Given the description of an element on the screen output the (x, y) to click on. 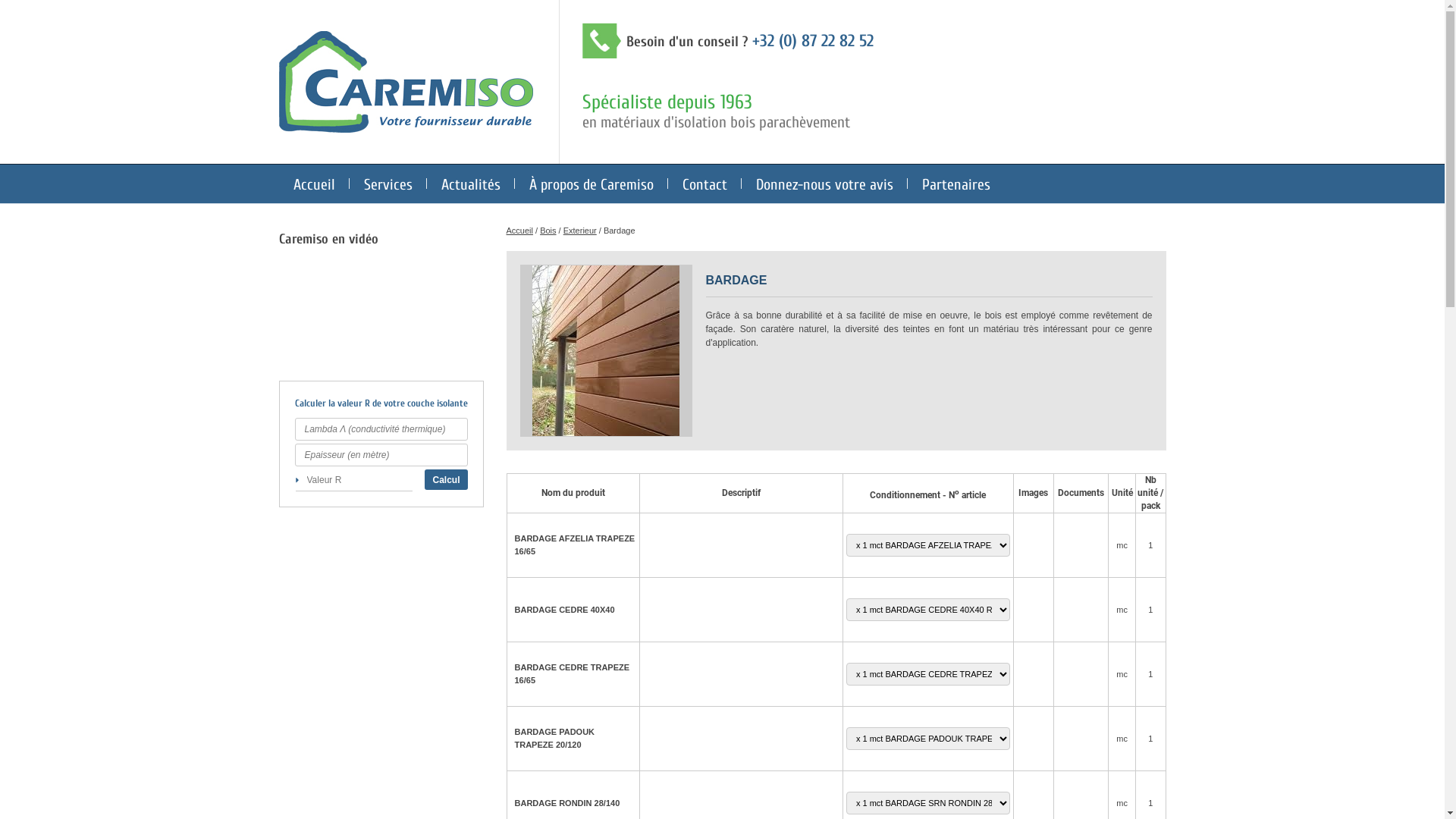
Contact Element type: text (703, 183)
Bardage Element type: hover (606, 350)
Partenaires Element type: text (954, 183)
Caremiso Element type: hover (406, 81)
Calcul Element type: hover (445, 479)
Exterieur Element type: text (579, 230)
Calcul Element type: text (445, 479)
Services Element type: text (386, 183)
Accueil Element type: text (519, 230)
Donnez-nous votre avis Element type: text (823, 183)
Accueil Element type: text (313, 183)
Caremiso Element type: hover (406, 129)
Bois Element type: text (547, 230)
